Given the description of an element on the screen output the (x, y) to click on. 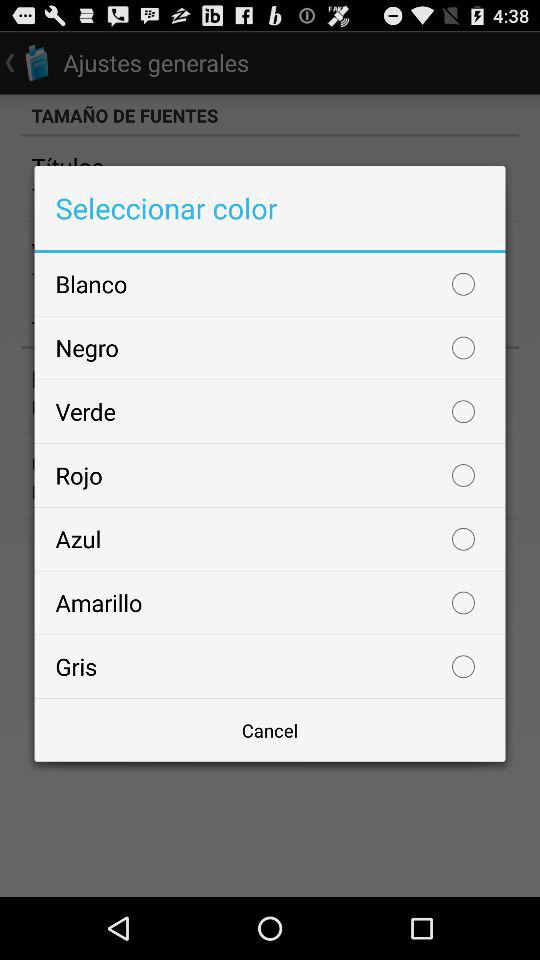
select the icon below the gris (269, 729)
